Given the description of an element on the screen output the (x, y) to click on. 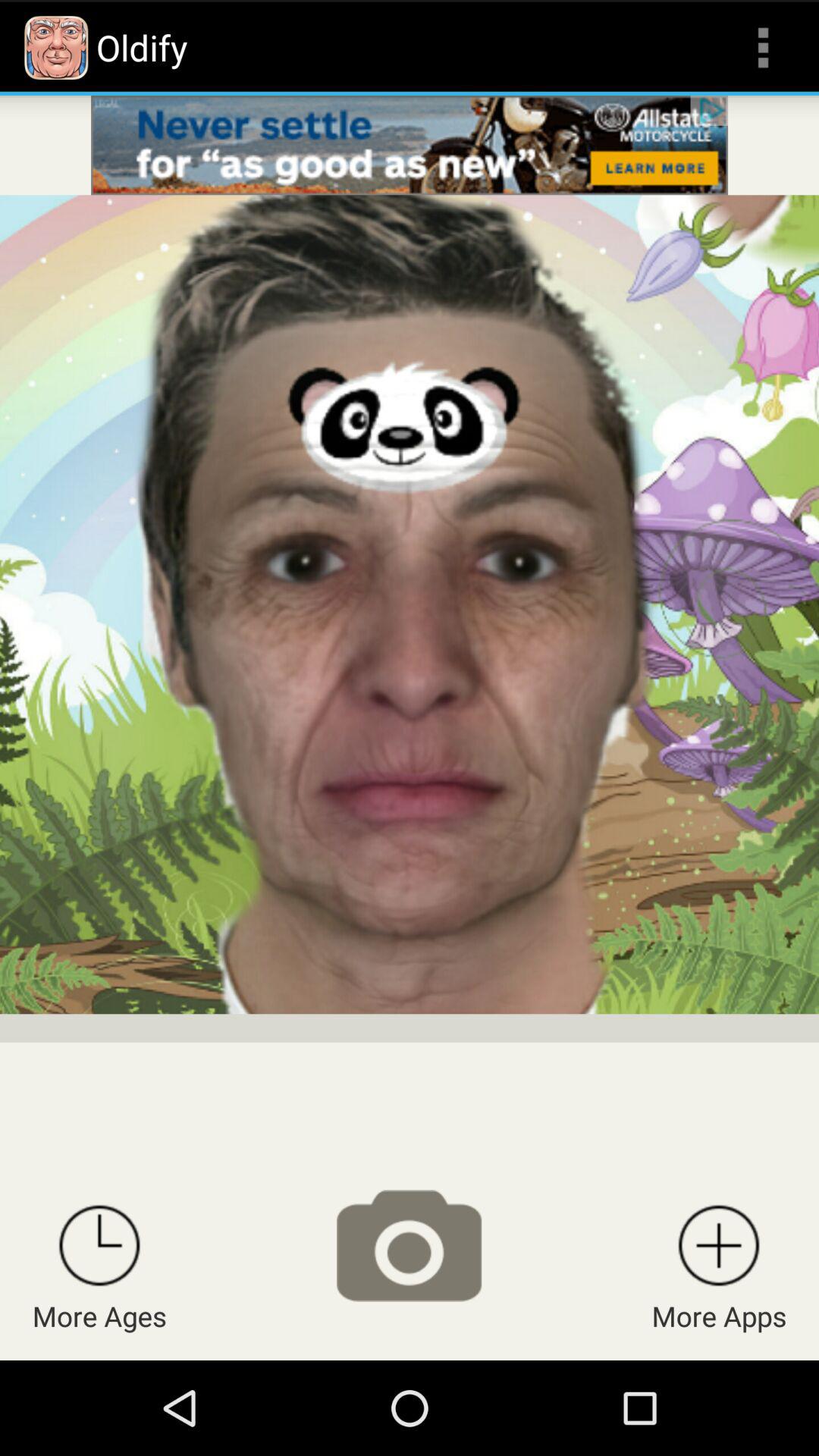
see more apps (718, 1245)
